Given the description of an element on the screen output the (x, y) to click on. 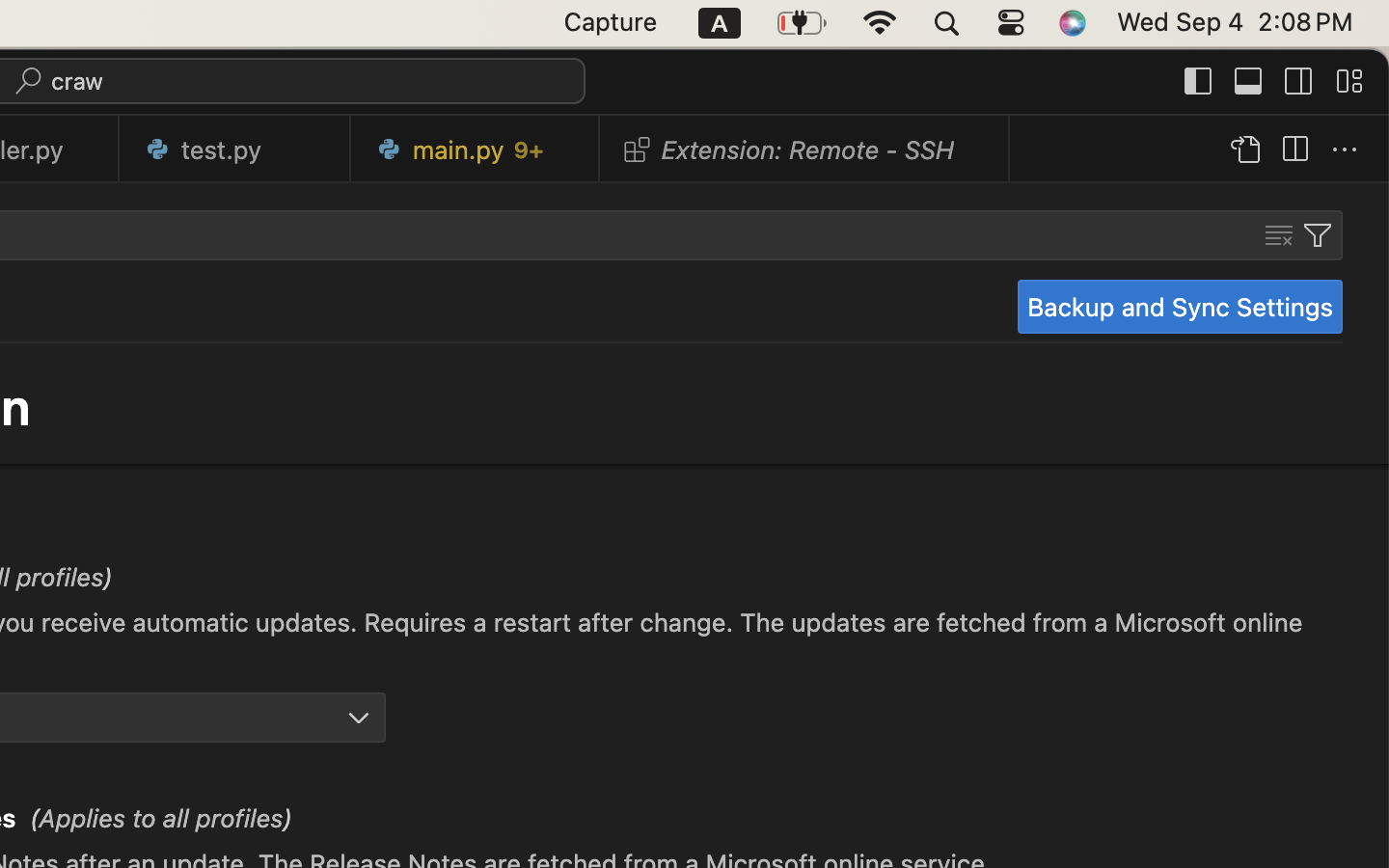
 Element type: AXCheckBox (1299, 80)
0 test.py   Element type: AXRadioButton (235, 149)
 Element type: AXButton (1244, 150)
 Element type: AXButton (1278, 235)
 Element type: AXStaticText (358, 717)
